Given the description of an element on the screen output the (x, y) to click on. 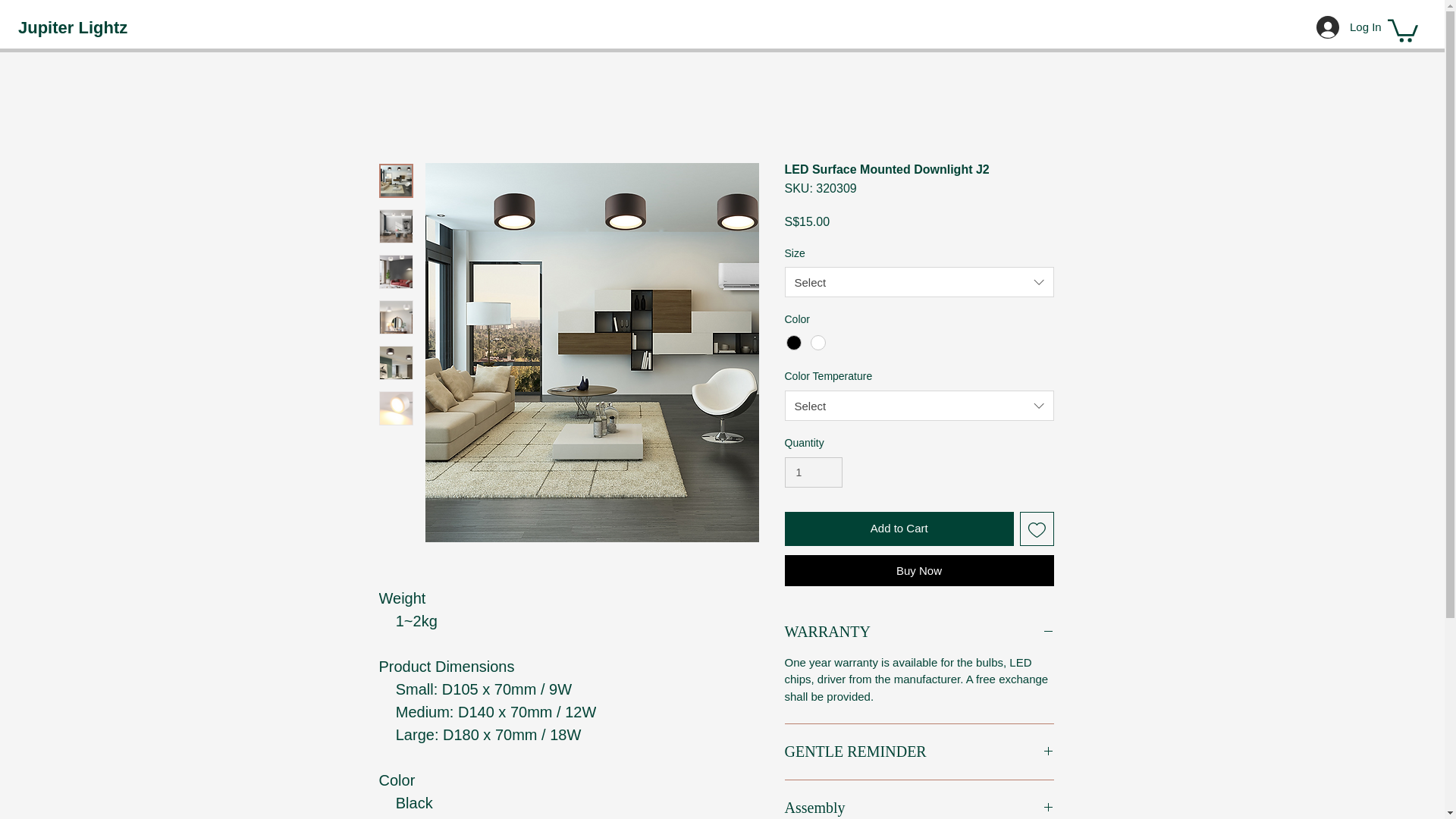
Log In (1335, 26)
GENTLE REMINDER (918, 751)
Select (918, 405)
Select (918, 281)
1 (812, 472)
Buy Now (918, 570)
Assembly (918, 807)
WARRANTY (918, 631)
Add to Cart (898, 528)
Jupiter Lightz (72, 27)
